Given the description of an element on the screen output the (x, y) to click on. 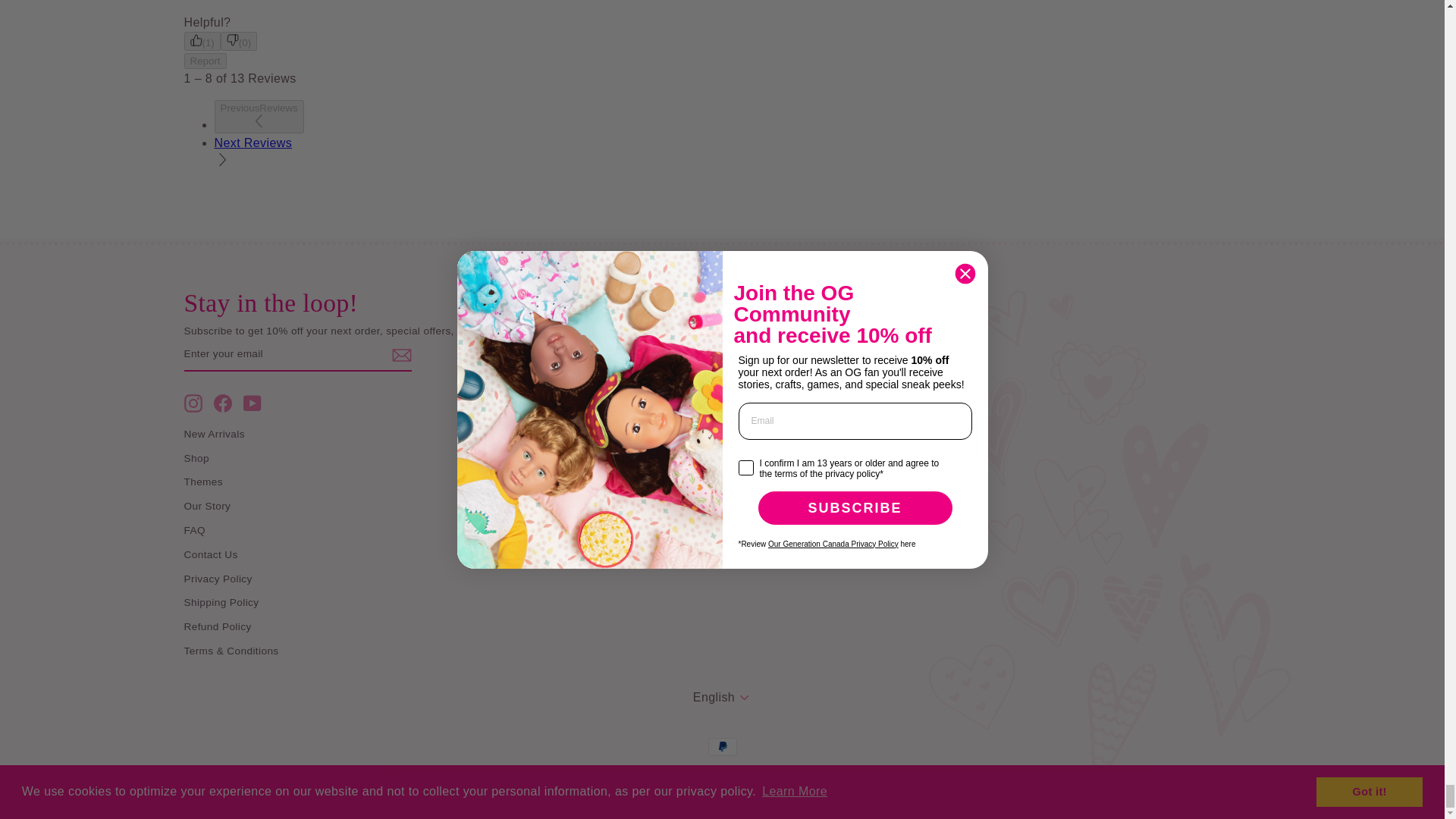
Our Generation - Canada on YouTube (251, 402)
Our Generation - Canada on Instagram (192, 402)
Our Generation - Canada on Facebook (222, 402)
